Given the description of an element on the screen output the (x, y) to click on. 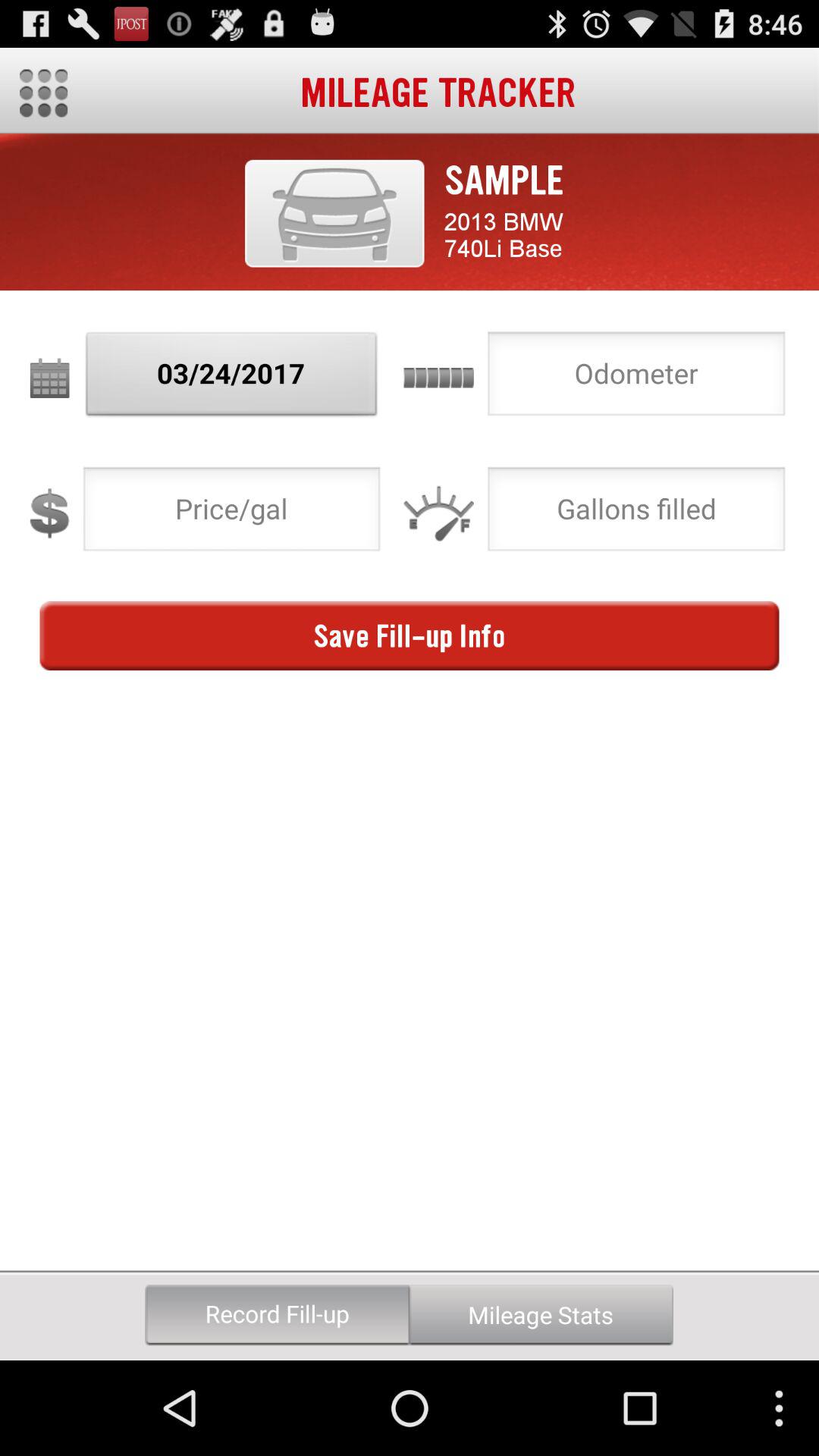
enter odometer info (636, 377)
